Given the description of an element on the screen output the (x, y) to click on. 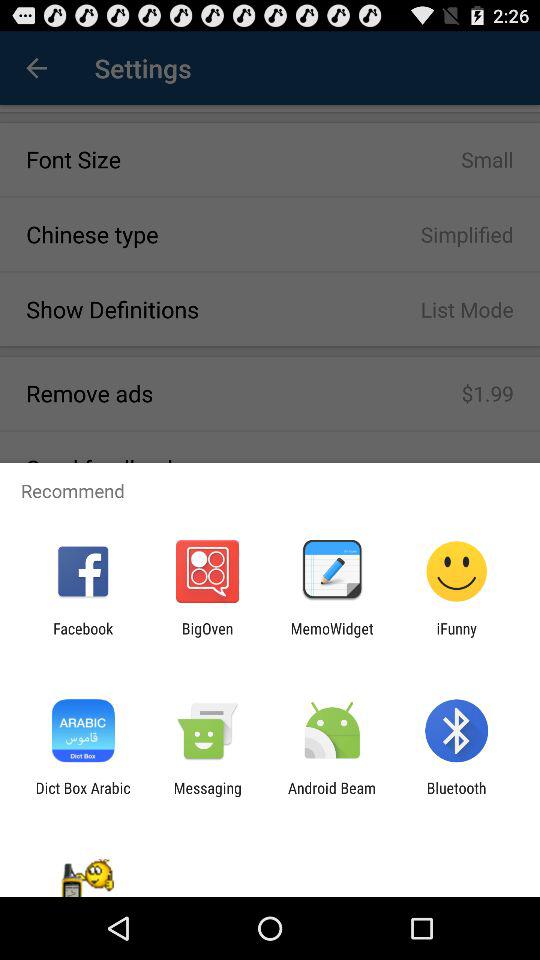
tap the item to the right of the android beam item (456, 796)
